Given the description of an element on the screen output the (x, y) to click on. 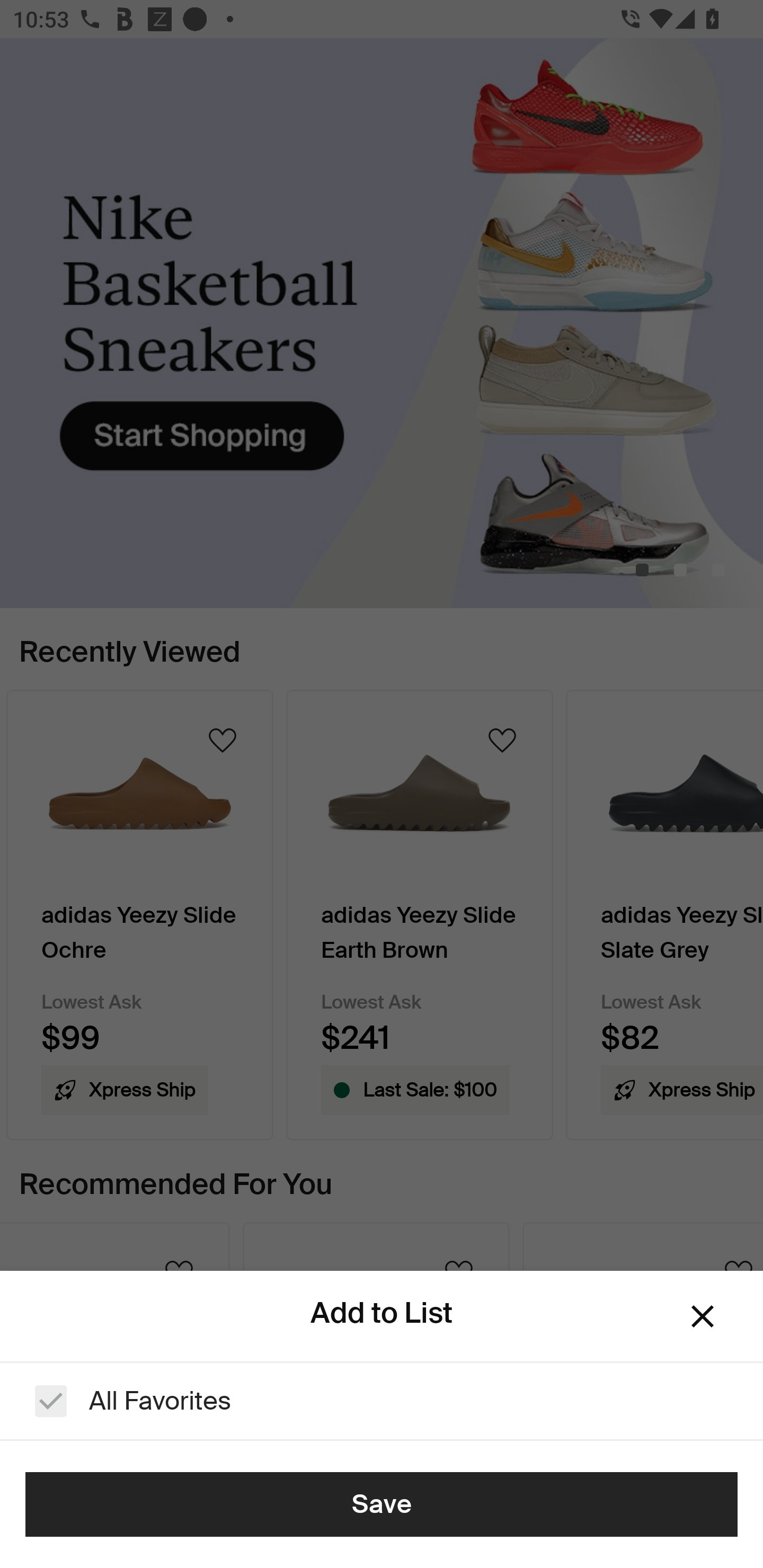
Dismiss (702, 1315)
All Favorites (381, 1400)
Save (381, 1504)
